Given the description of an element on the screen output the (x, y) to click on. 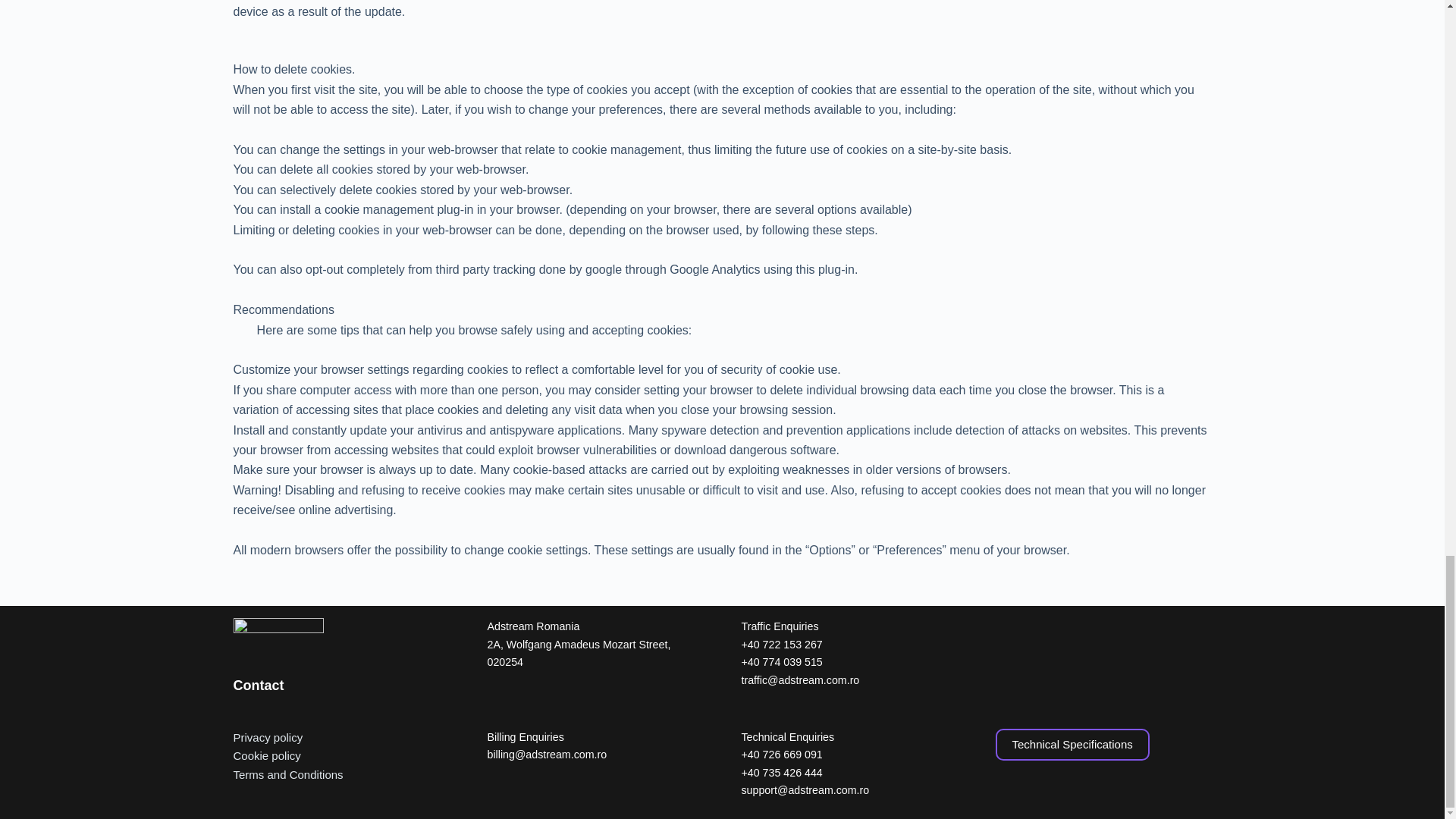
Privacy policy (267, 737)
Cookie policy (266, 755)
Terms and Conditions (287, 774)
Technical Specifications (1071, 744)
